Given the description of an element on the screen output the (x, y) to click on. 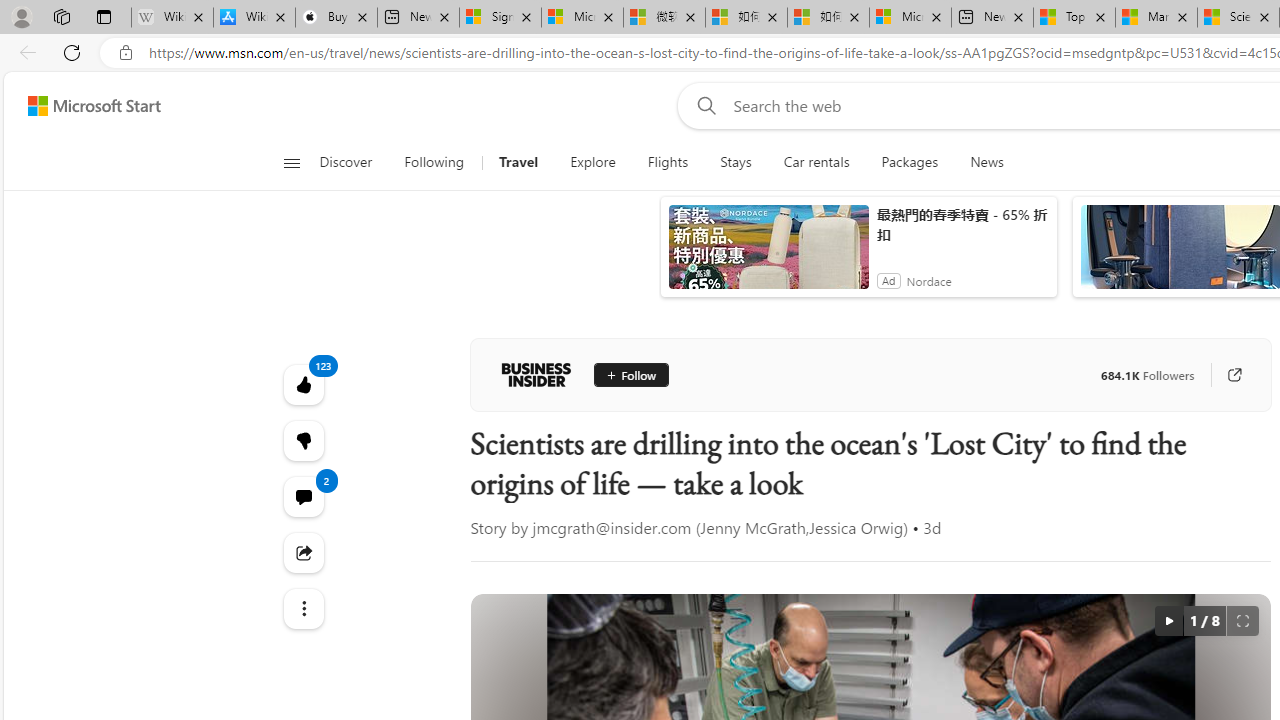
Follow (630, 374)
Car rentals (816, 162)
Business Insider (536, 374)
Stays (735, 162)
Car rentals (816, 162)
